Given the description of an element on the screen output the (x, y) to click on. 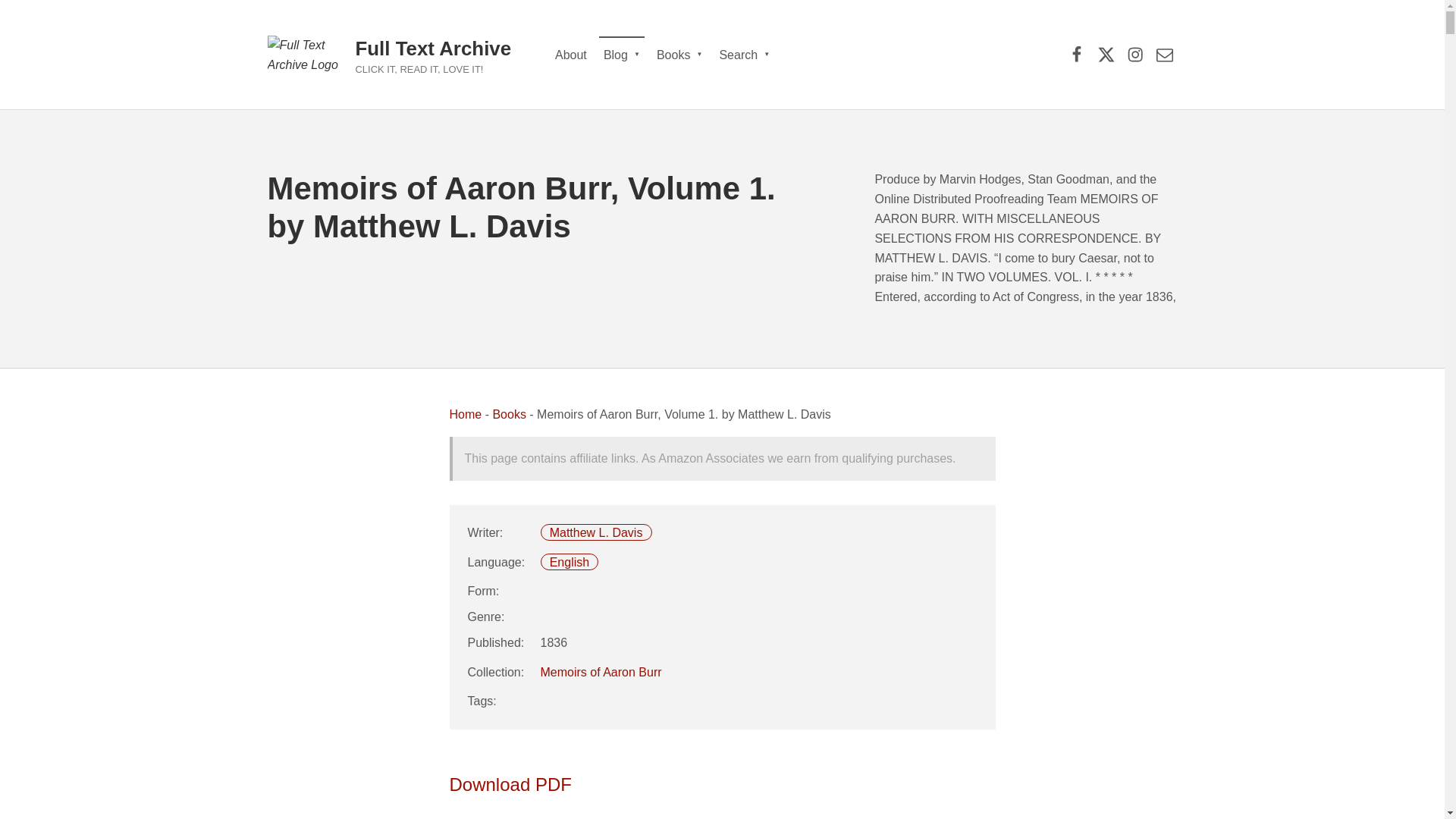
English (569, 562)
Matthew L. Davis (596, 532)
Full Text Archive (433, 47)
Search (744, 54)
Books (679, 54)
Download PDF (509, 783)
Books (508, 413)
Home (464, 413)
About (570, 54)
Blog (621, 54)
